Given the description of an element on the screen output the (x, y) to click on. 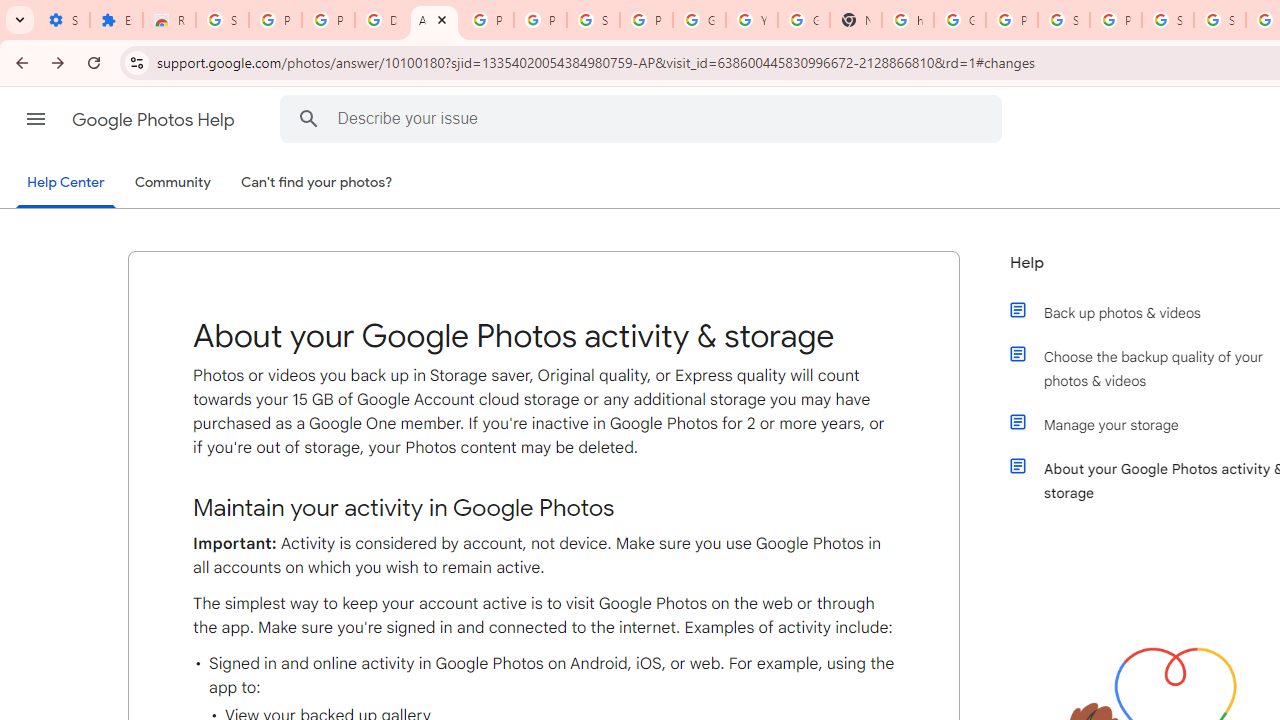
Google Photos Help (155, 119)
Google Account (699, 20)
New Tab (855, 20)
Describe your issue (644, 118)
Can't find your photos? (317, 183)
